Given the description of an element on the screen output the (x, y) to click on. 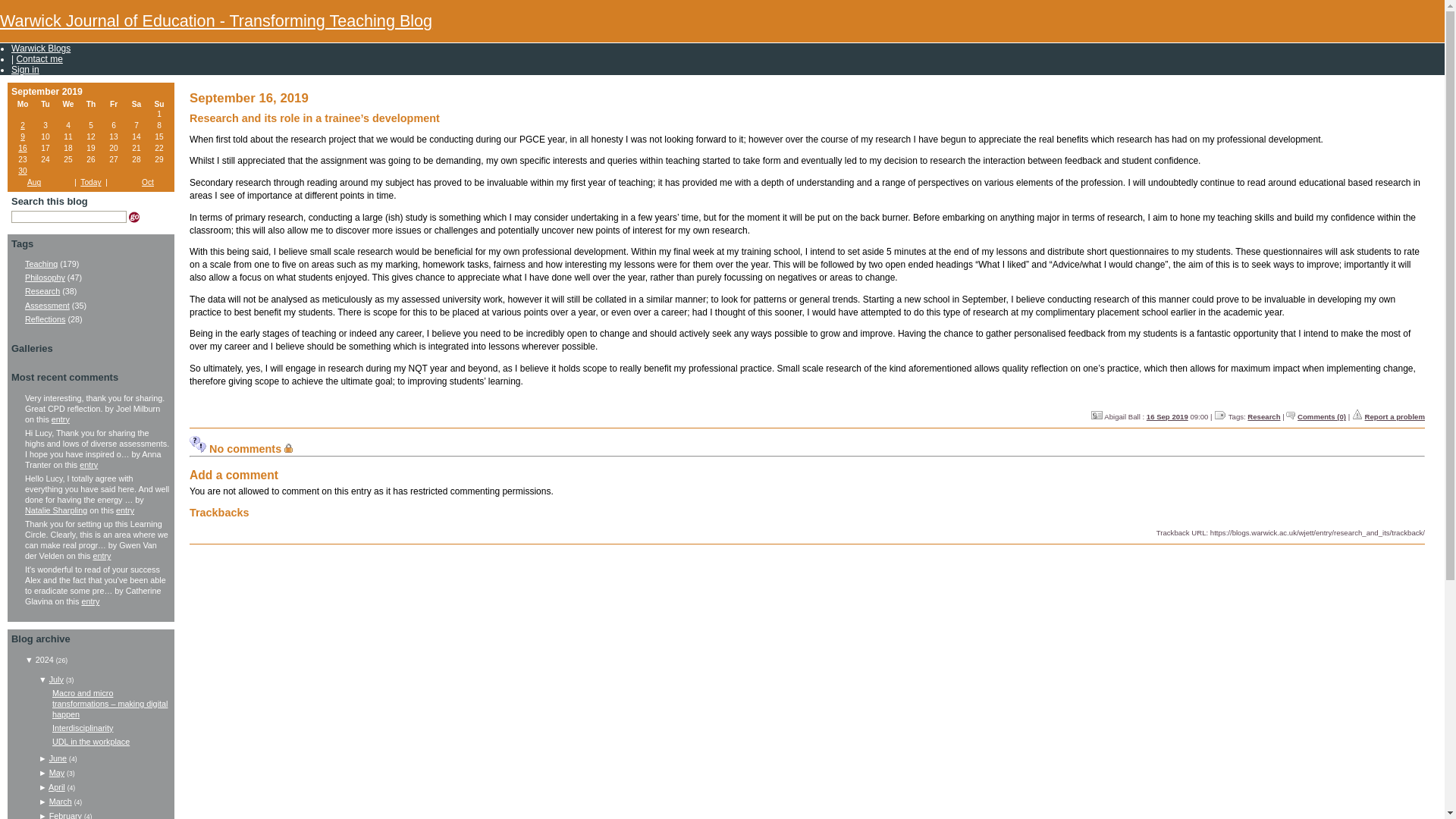
Staff: Centre for Teacher Education (1096, 415)
Only commentable by: Author (287, 447)
Contact me (39, 59)
Report a problem (1395, 416)
16 Sep 2019 (1167, 416)
1 entry on 30 September 2019 (21, 171)
Sign in (25, 69)
June (57, 757)
1 entry on 16 September 2019 (21, 148)
Read or add comments (1321, 416)
July (56, 678)
16 (21, 148)
May (56, 772)
